Given the description of an element on the screen output the (x, y) to click on. 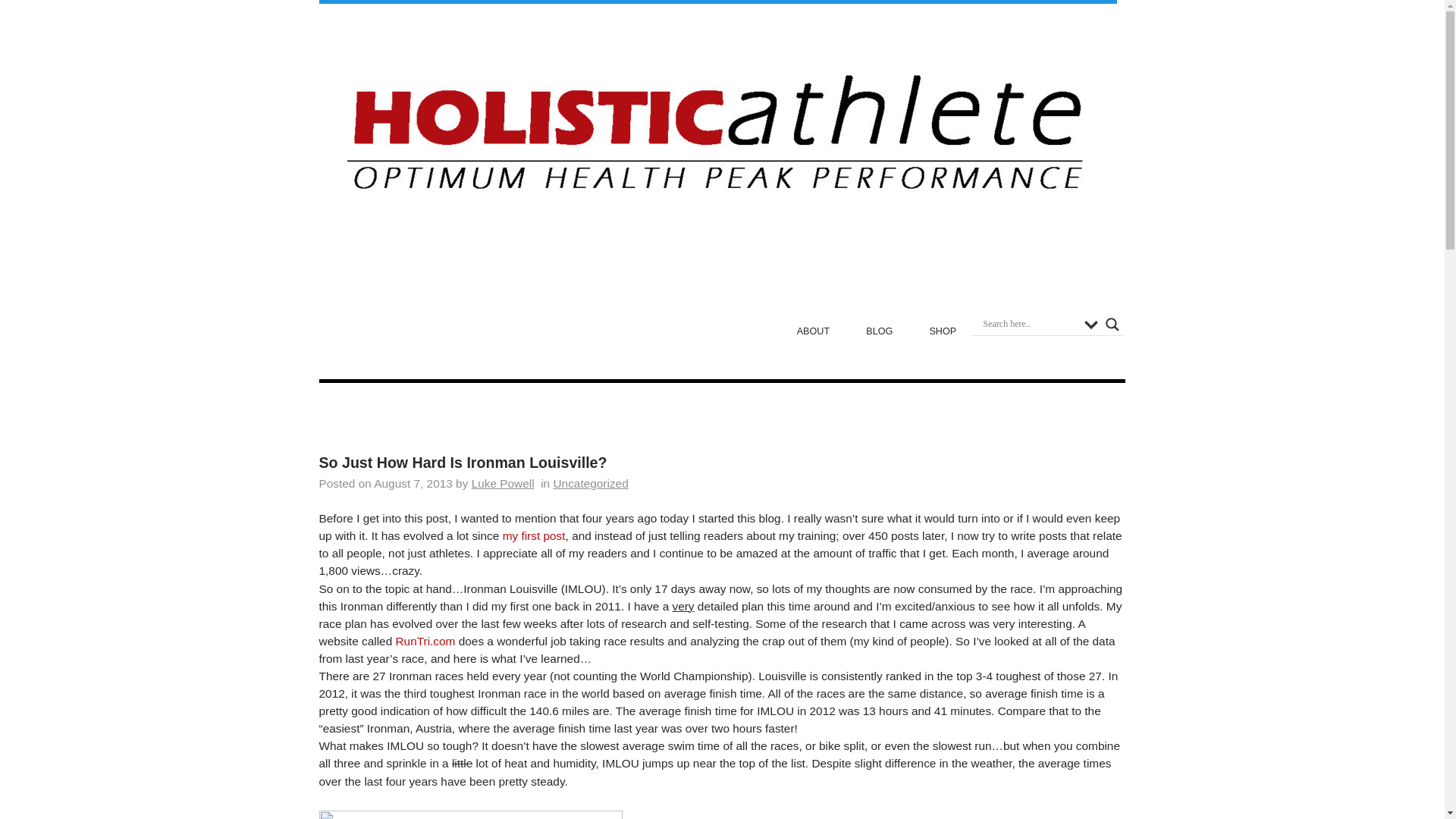
Luke Powell (502, 482)
Posts by Luke Powell (502, 482)
Uncategorized (590, 482)
RunTri.com (424, 640)
my first post (534, 535)
